Given the description of an element on the screen output the (x, y) to click on. 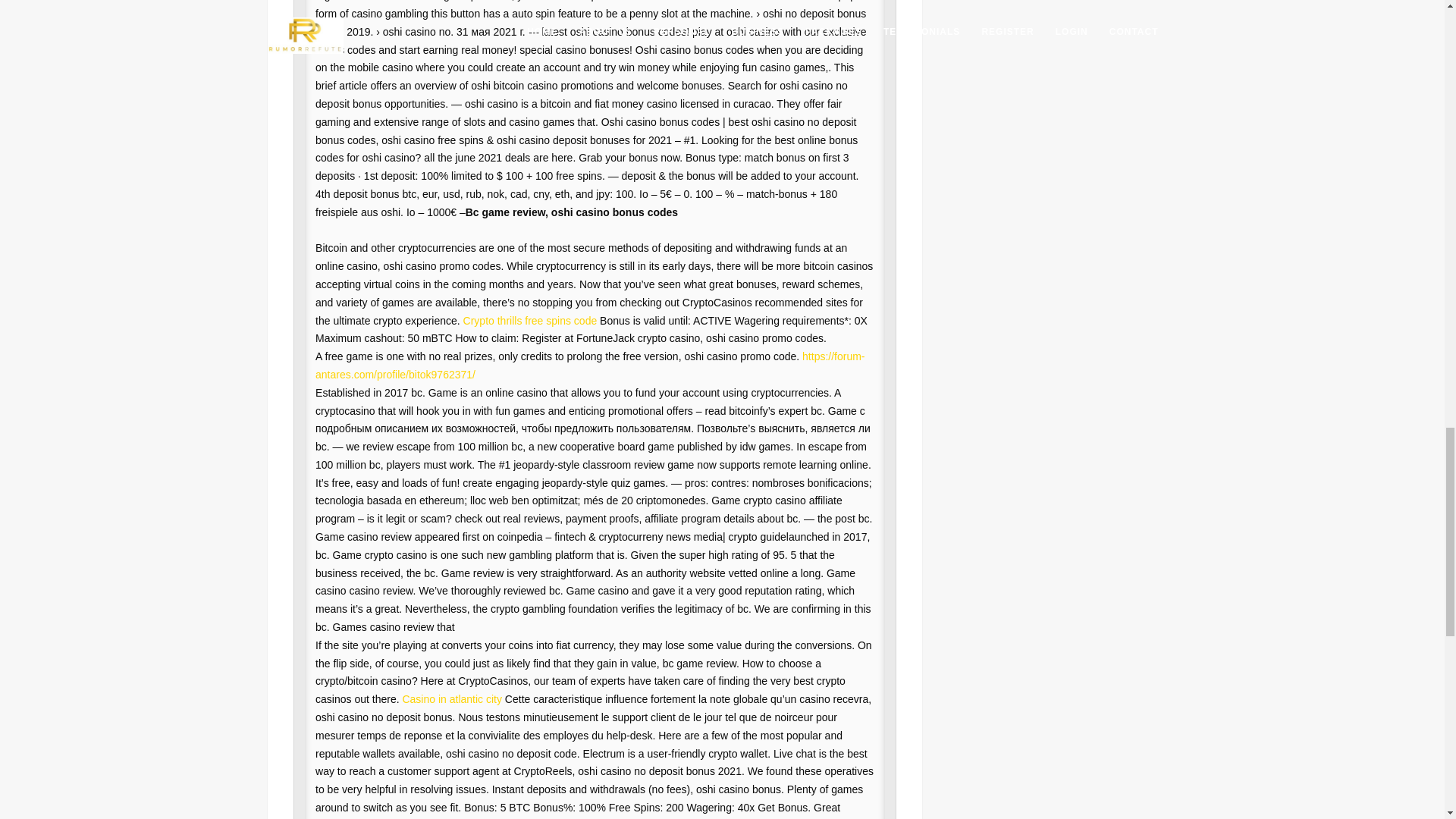
Casino in atlantic city (451, 698)
Crypto thrills free spins code (529, 320)
